Given the description of an element on the screen output the (x, y) to click on. 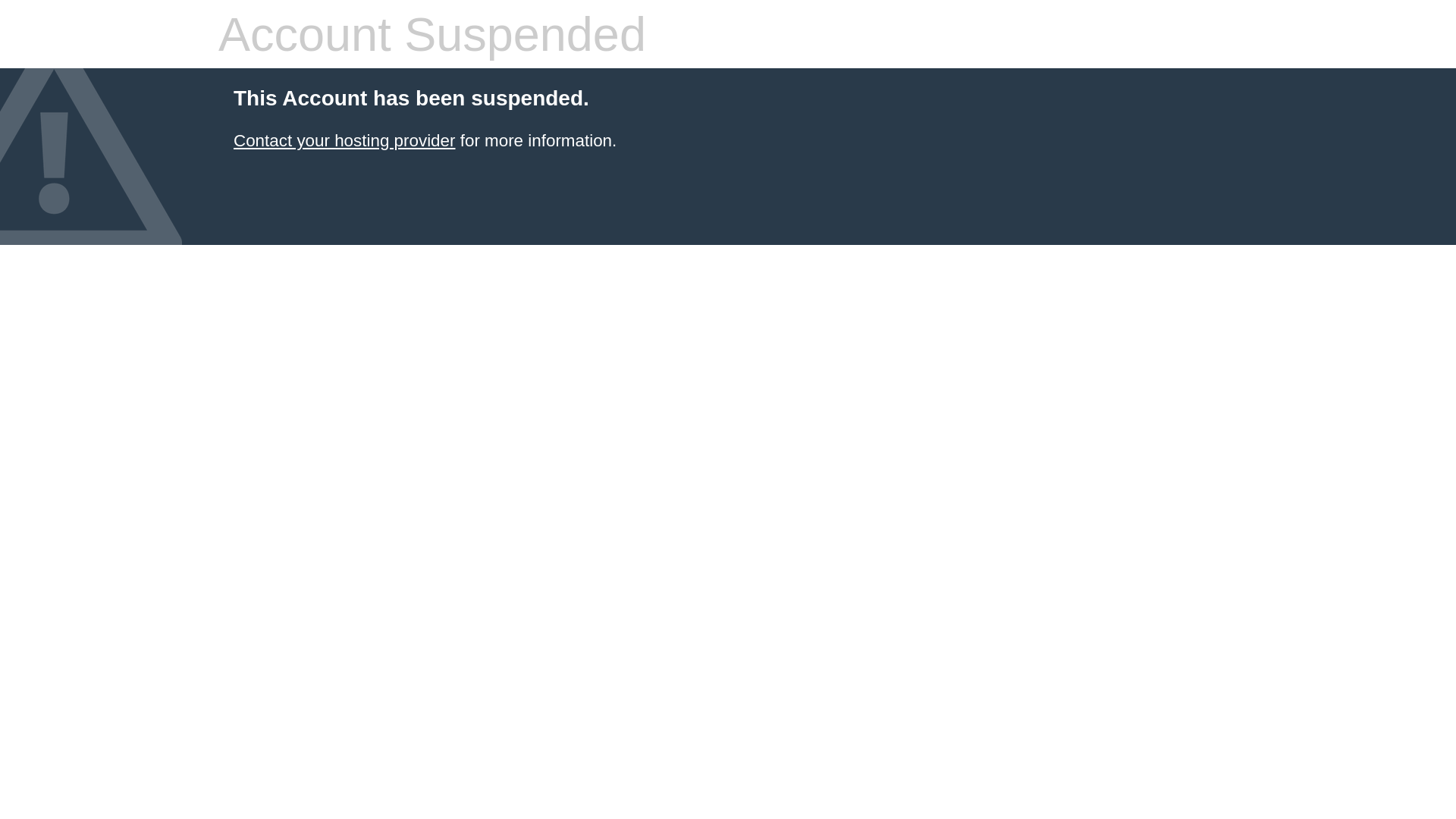
Contact your hosting provider Element type: text (344, 140)
